Given the description of an element on the screen output the (x, y) to click on. 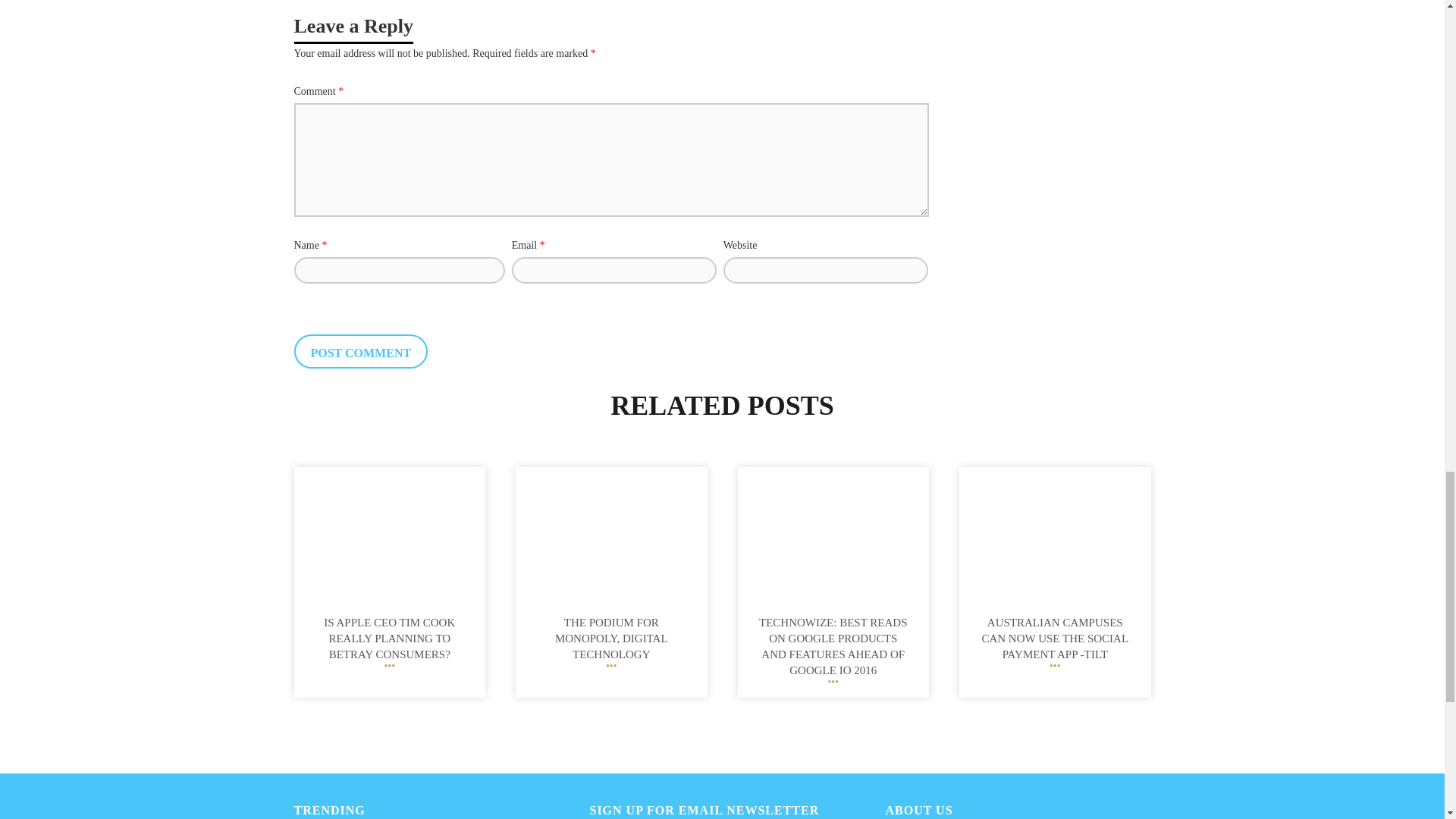
Post Comment (361, 351)
